Given the description of an element on the screen output the (x, y) to click on. 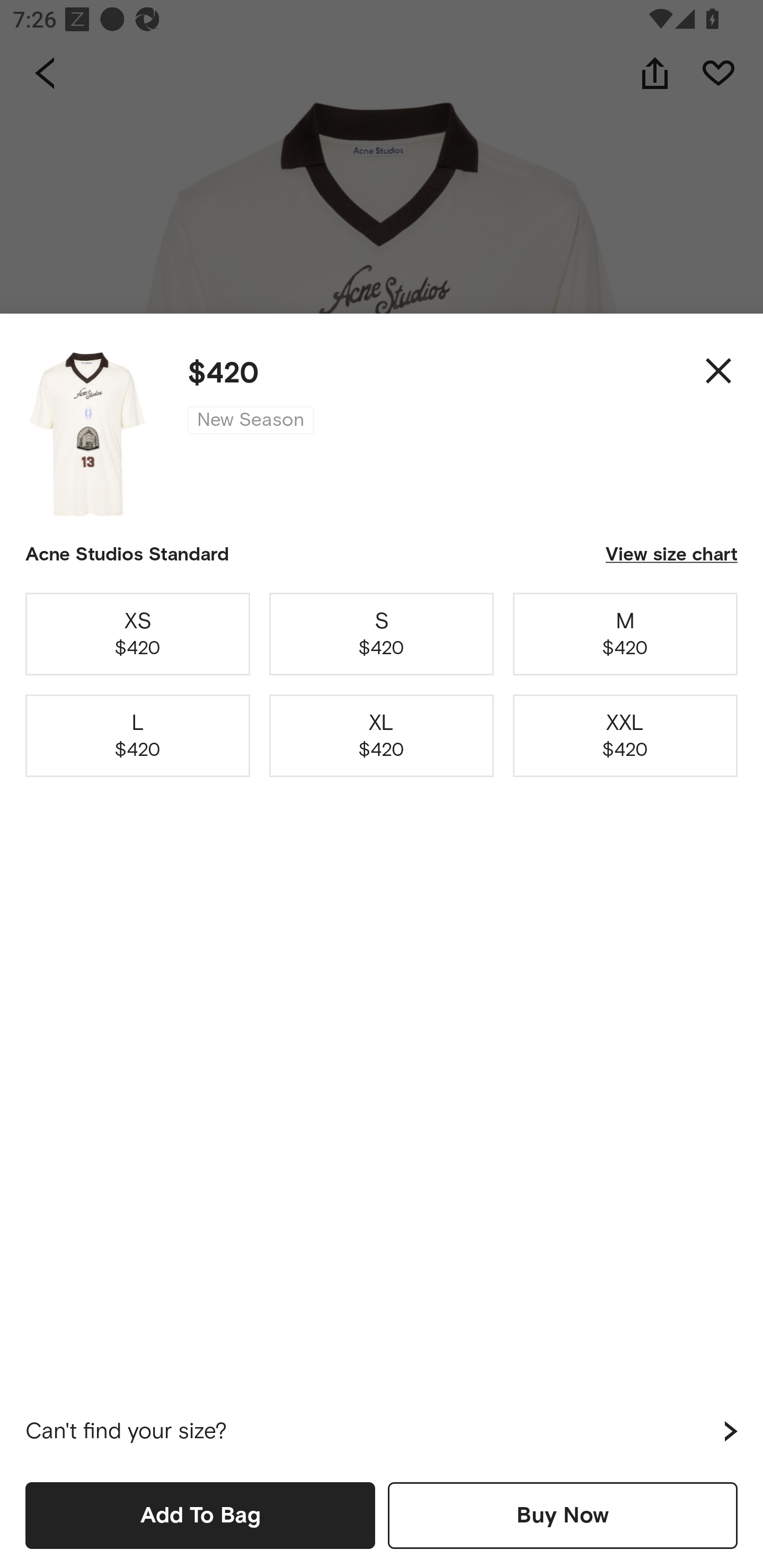
XS $420 (137, 633)
S $420 (381, 633)
M $420 (624, 633)
L $420 (137, 735)
XL $420 (381, 735)
XXL $420 (624, 735)
Can't find your size? (381, 1431)
Add To Bag (200, 1515)
Buy Now (562, 1515)
